Given the description of an element on the screen output the (x, y) to click on. 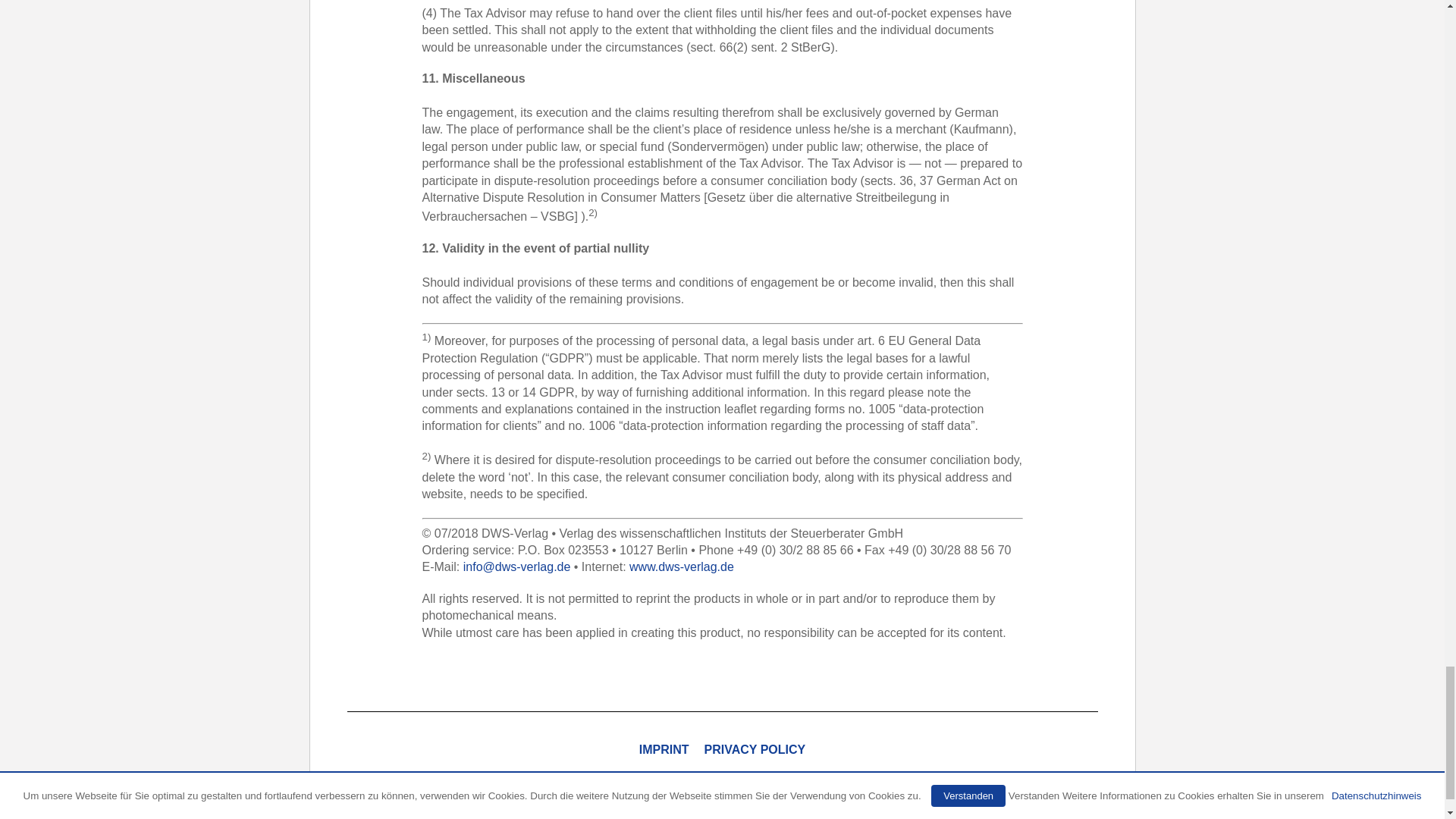
PRIVACY POLICY (755, 748)
www.dws-verlag.de (680, 566)
IMPRINT (663, 748)
HWK Steuerberatungsgesellschaft mbH (714, 779)
